Given the description of an element on the screen output the (x, y) to click on. 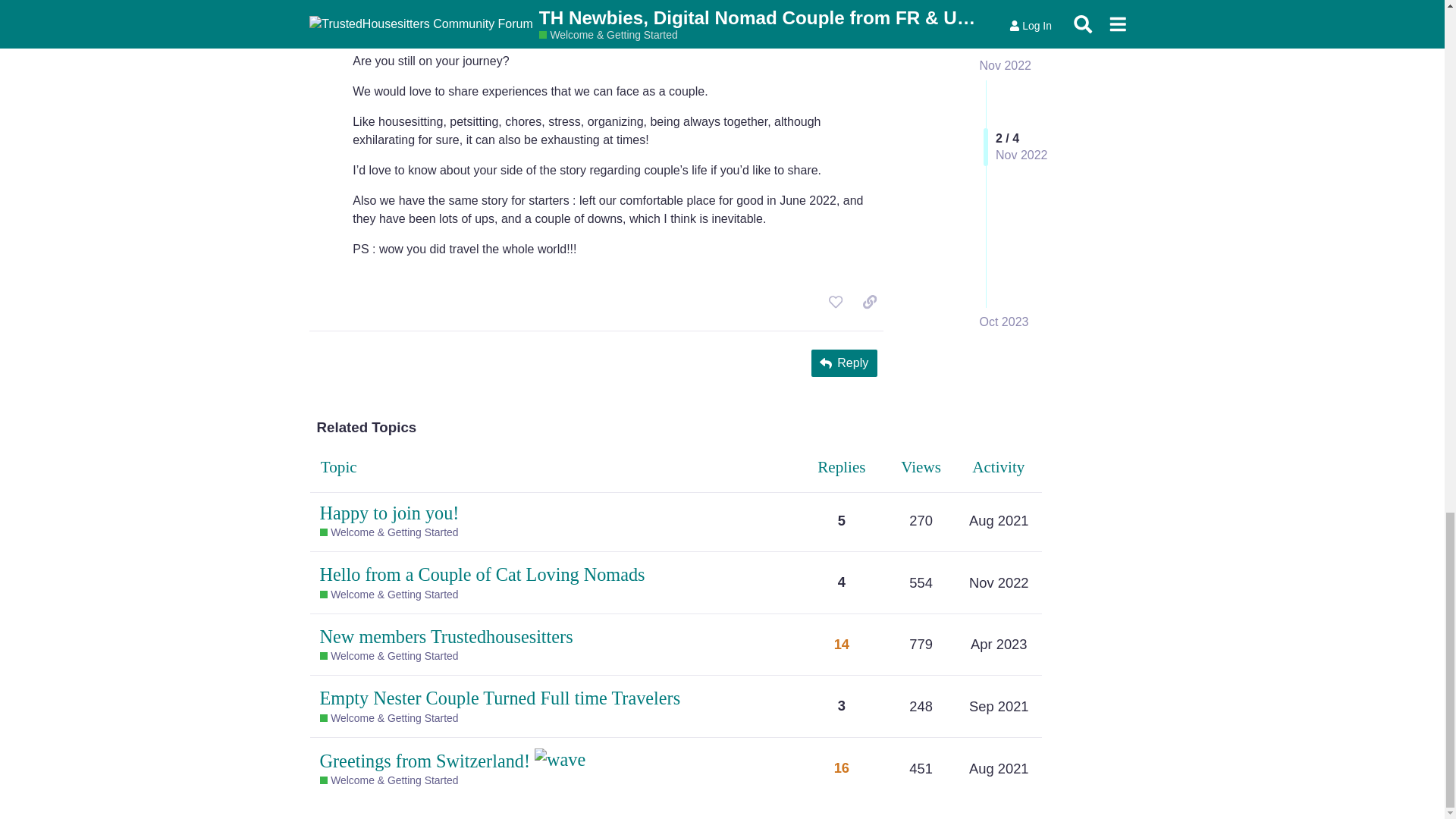
Sarah.Nena (385, 3)
